Given the description of an element on the screen output the (x, y) to click on. 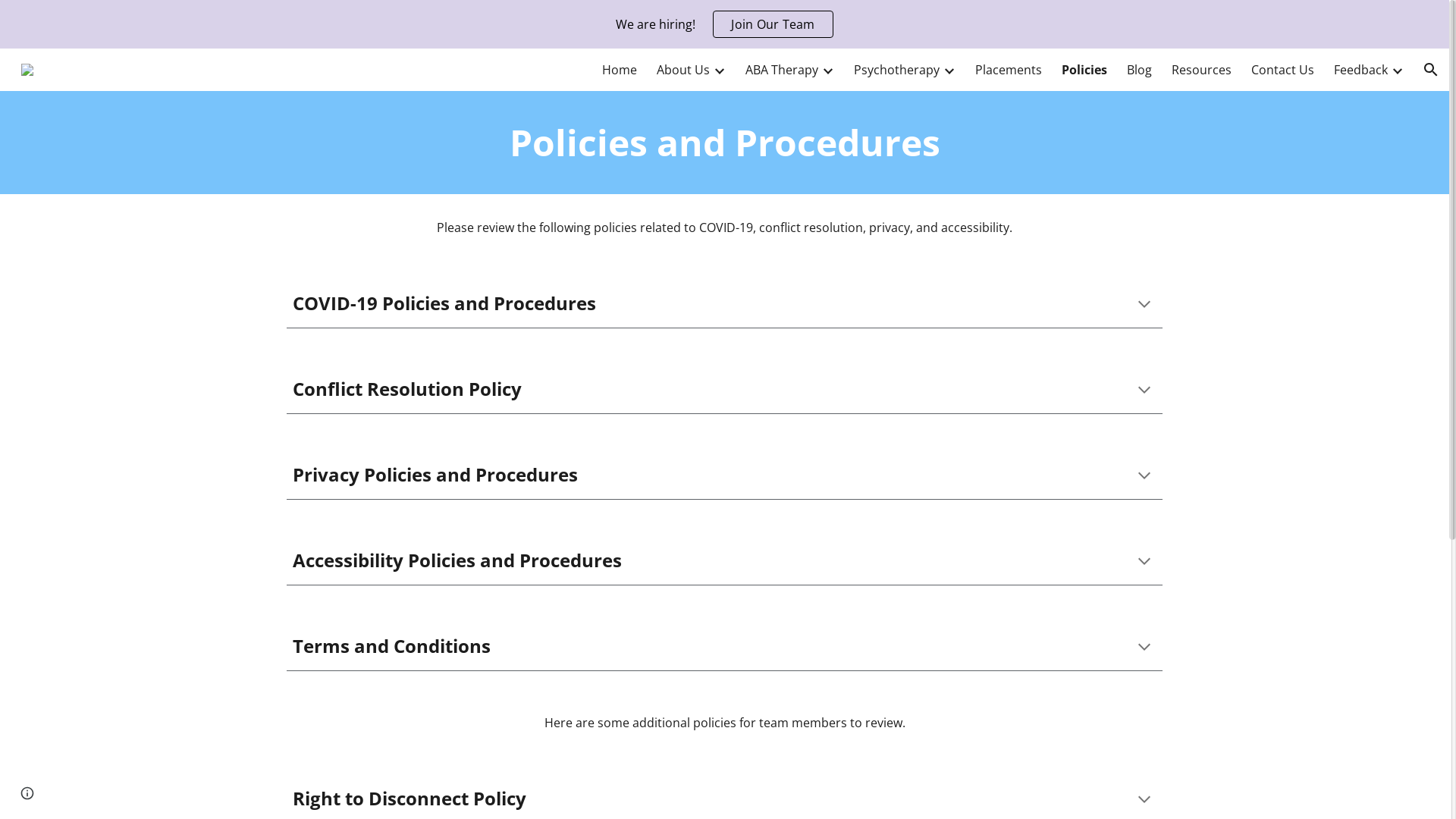
Feedback Element type: text (1360, 69)
Expand/Collapse Element type: hover (827, 69)
Join Our Team Element type: text (772, 24)
Expand/Collapse Element type: hover (1396, 69)
Placements Element type: text (1008, 69)
Resources Element type: text (1201, 69)
Blog Element type: text (1138, 69)
About Us Element type: text (682, 69)
ABA Therapy Element type: text (781, 69)
Psychotherapy Element type: text (896, 69)
Expand/Collapse Element type: hover (948, 69)
Expand/Collapse Element type: hover (718, 69)
Policies Element type: text (1084, 69)
Contact Us Element type: text (1282, 69)
Home Element type: text (619, 69)
